Given the description of an element on the screen output the (x, y) to click on. 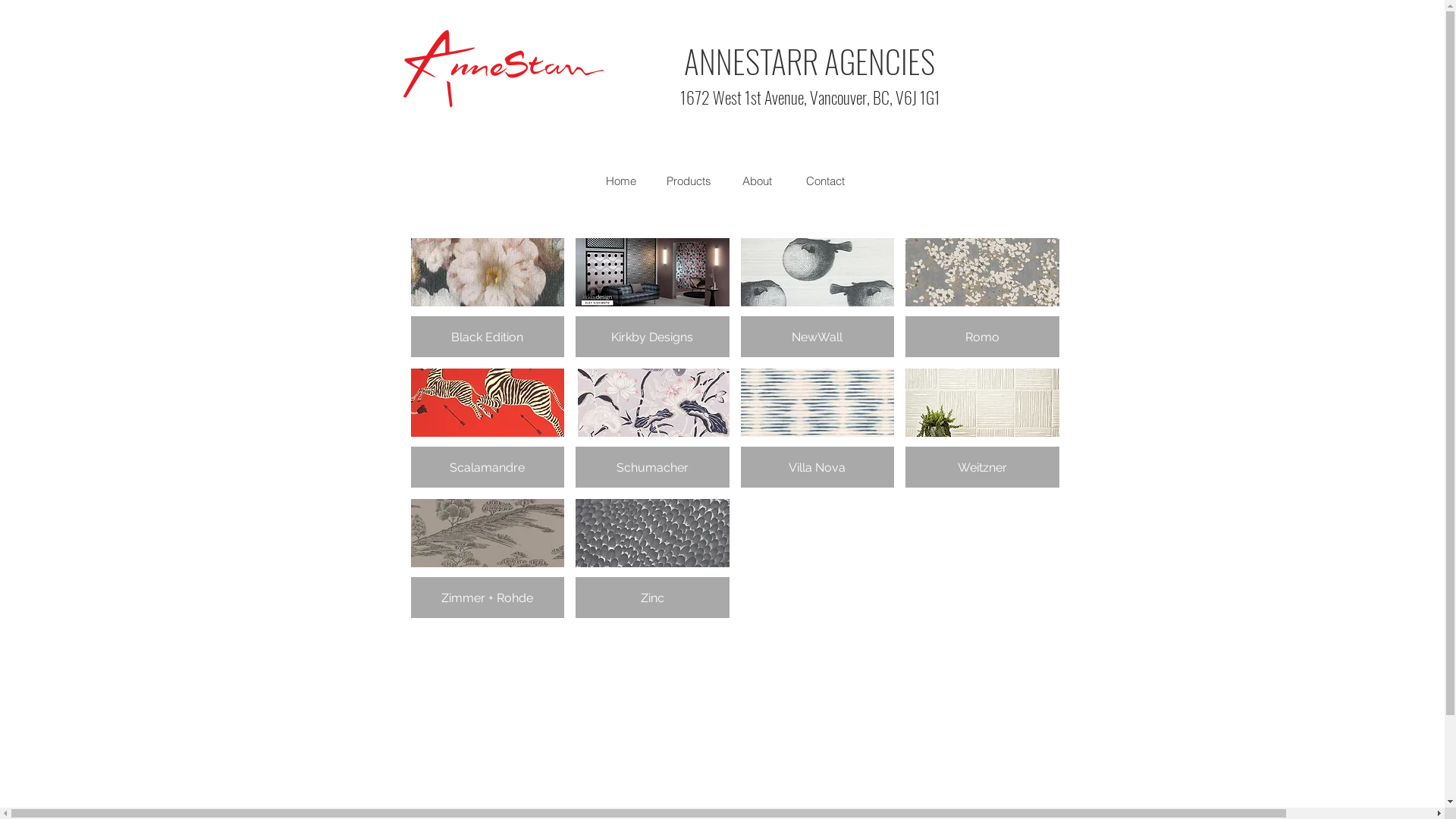
Villa Nova Element type: text (817, 427)
Contact Element type: text (824, 180)
Home Element type: text (620, 180)
Schumacher Element type: text (652, 427)
Kirkby Designs Element type: text (652, 297)
Romo Element type: text (982, 297)
NewWall Element type: text (817, 297)
|     FALL/WINTER 2023  Element type: text (523, 302)
About Element type: text (756, 180)
Scalamandre Element type: text (487, 427)
Zimmer + Rohde Element type: text (487, 558)
Black Edition Element type: text (487, 297)
|     SPRING/SUMMER 2023 Element type: text (805, 302)
Weitzner Element type: text (982, 427)
Products Element type: text (688, 180)
Zinc Element type: text (652, 558)
ashdr-logo_edited.jpg Element type: hover (503, 68)
